Given the description of an element on the screen output the (x, y) to click on. 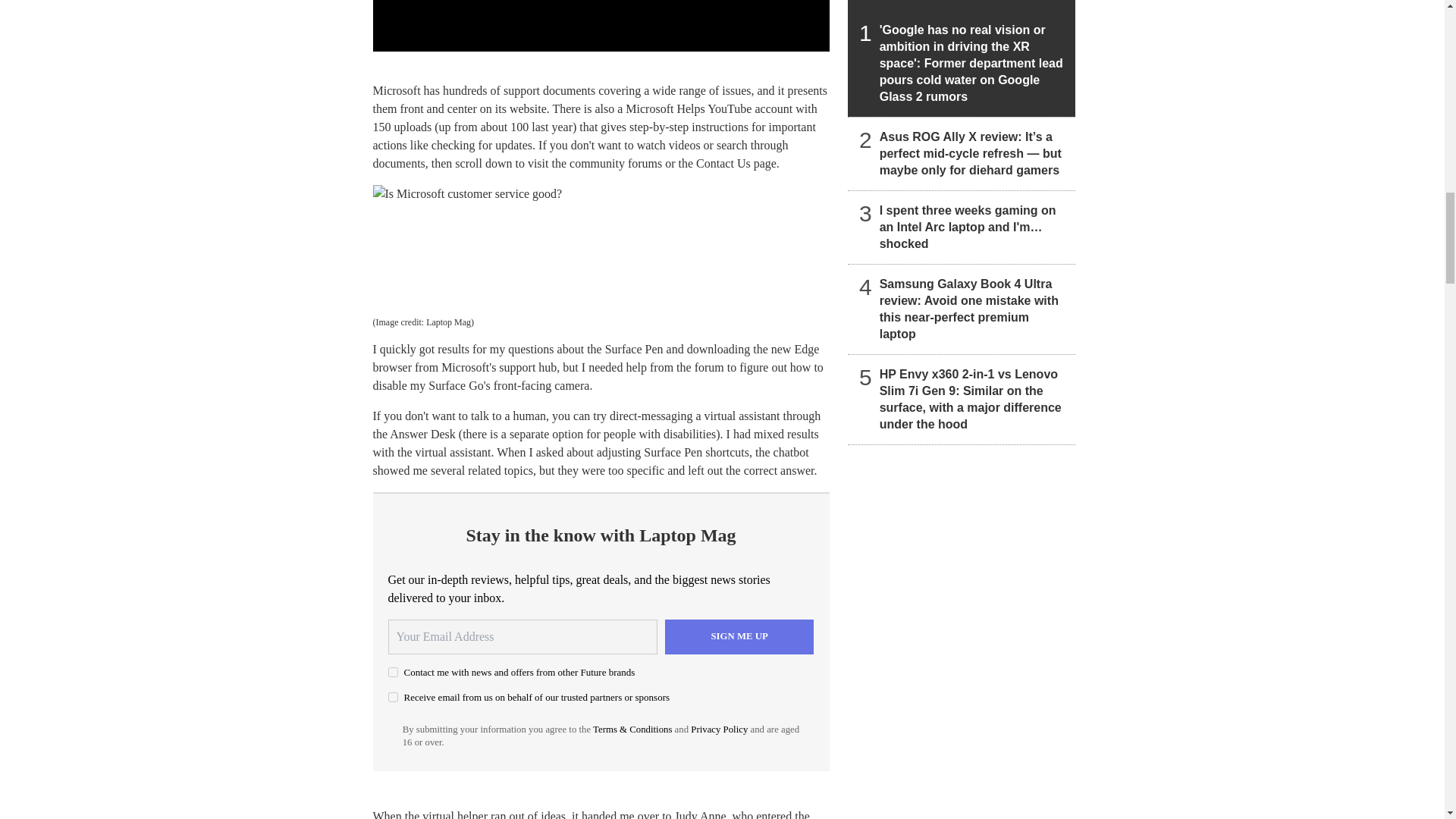
on (392, 672)
Sign me up (739, 636)
on (392, 696)
